Given the description of an element on the screen output the (x, y) to click on. 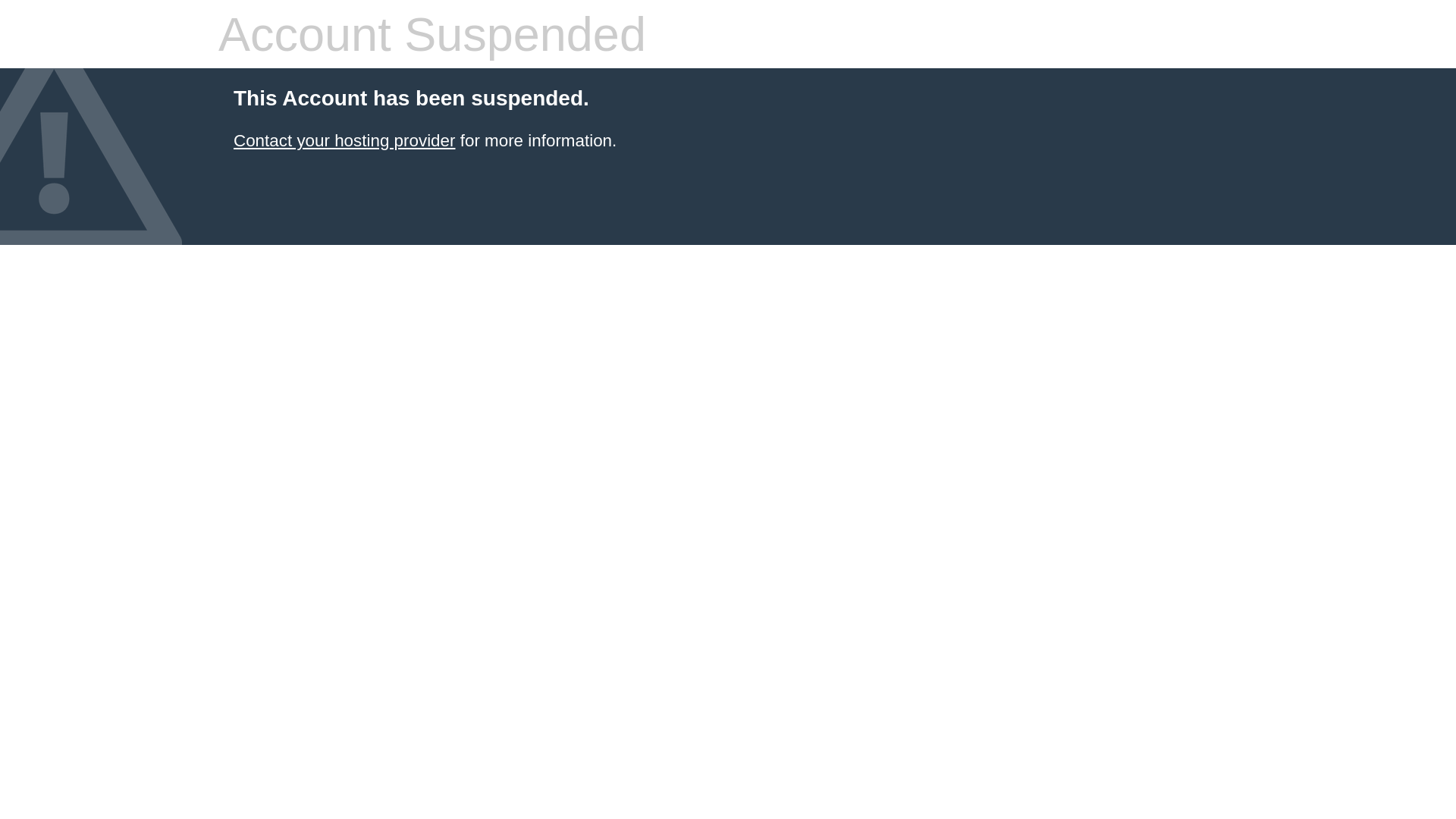
Contact your hosting provider Element type: text (344, 140)
